Given the description of an element on the screen output the (x, y) to click on. 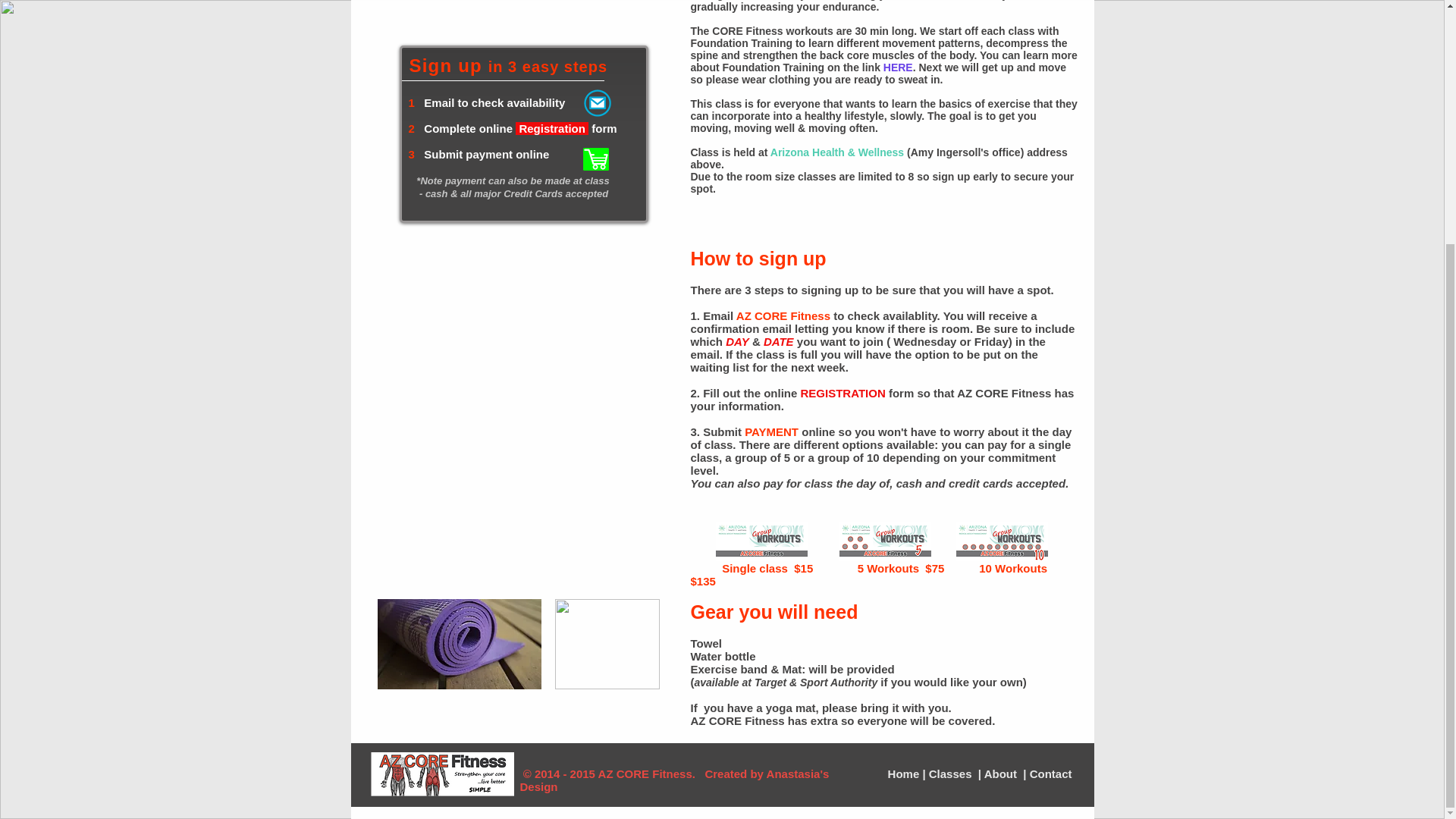
HERE (897, 67)
PAYMENT (770, 431)
Registration  (553, 128)
Home (905, 773)
REGISTRATION (842, 392)
Contact (1048, 773)
Classes  (951, 773)
About  (1002, 773)
AZ CORE Fitness (782, 315)
